Given the description of an element on the screen output the (x, y) to click on. 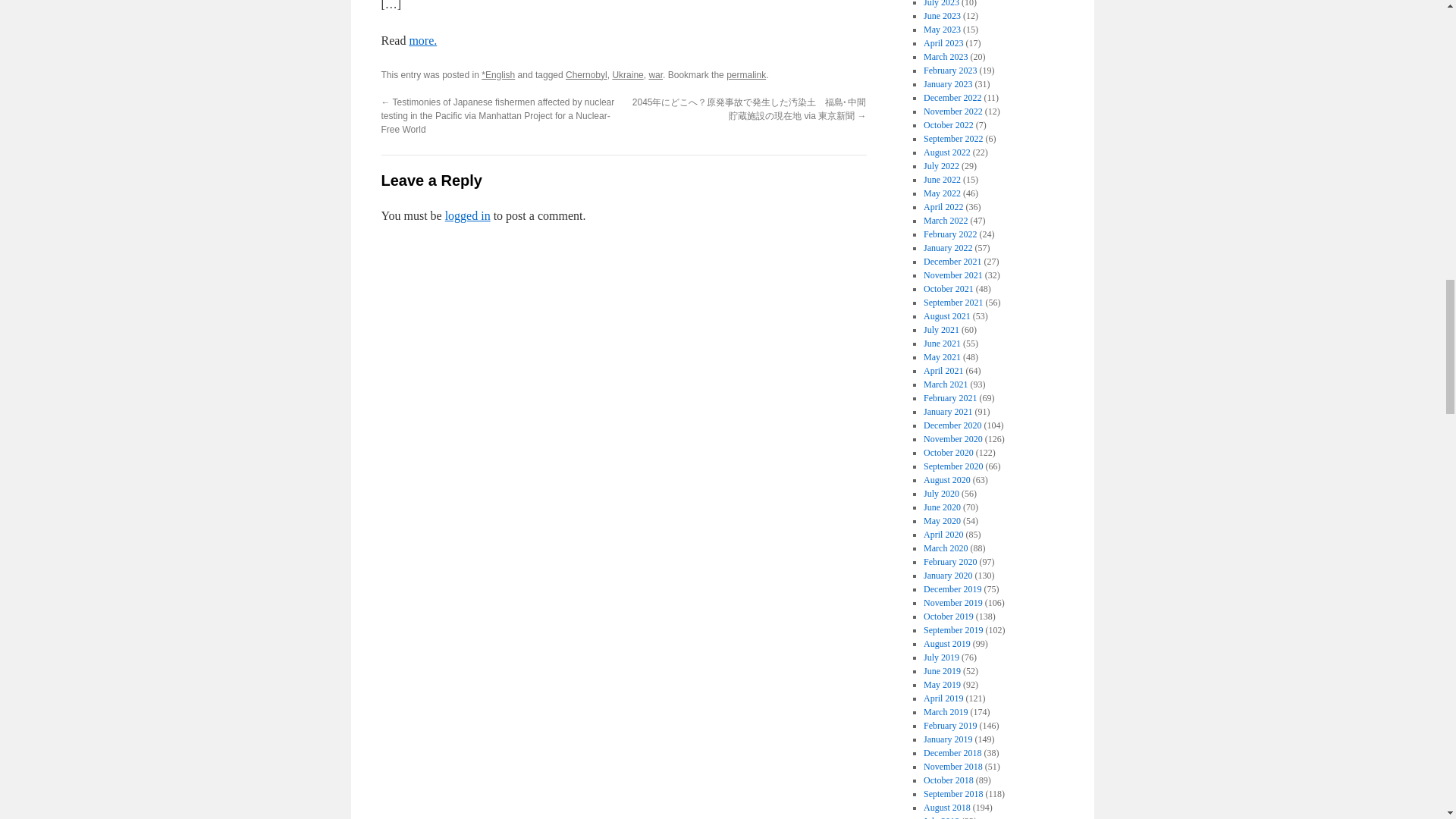
Chernobyl (586, 74)
more. (422, 40)
Ukraine (627, 74)
